Given the description of an element on the screen output the (x, y) to click on. 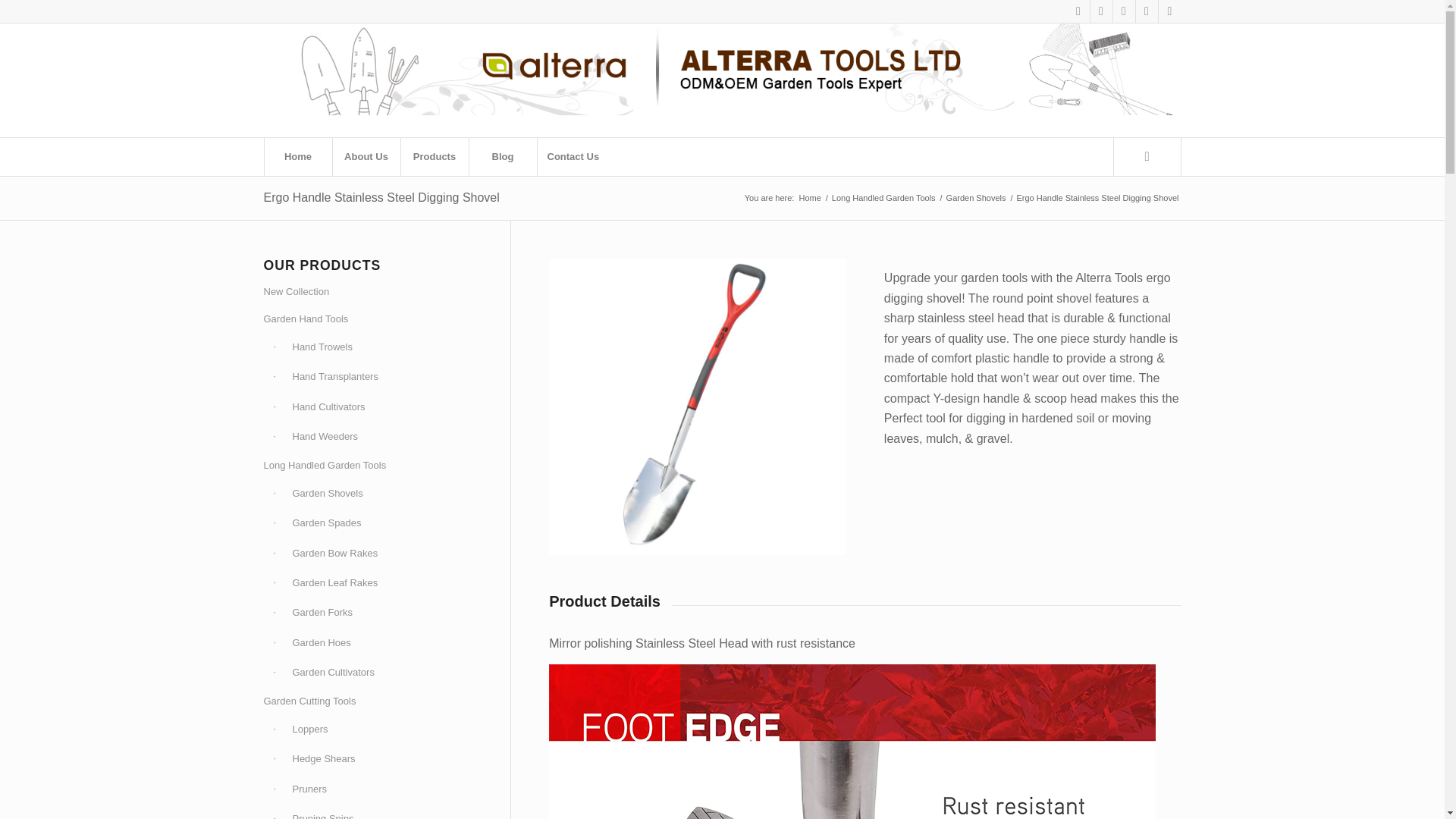
Permanent Link: Ergo Handle Stainless Steel Digging Shovel (381, 196)
About Us (365, 157)
Youtube (1146, 11)
Facebook (1078, 11)
Instagram (1124, 11)
LinkedIn (1169, 11)
Twitter (1101, 11)
Products (434, 157)
Home (297, 157)
Alterra Tools (809, 197)
